Given the description of an element on the screen output the (x, y) to click on. 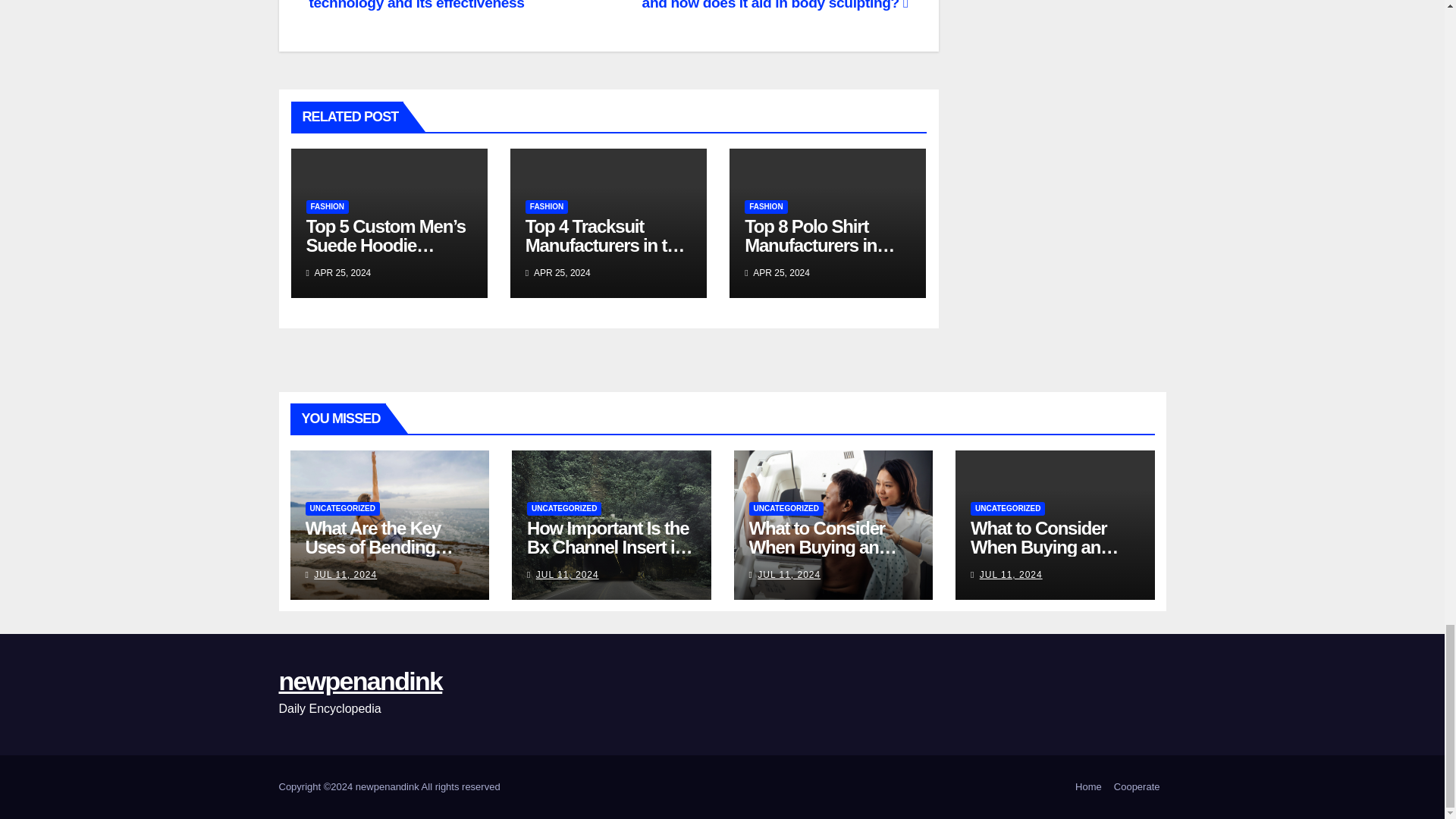
FASHION (327, 206)
Top 8 Polo Shirt Manufacturers in South Africa (819, 245)
FASHION (546, 206)
Top 4 Tracksuit Manufacturers in the United Kingdom (605, 245)
FASHION (765, 206)
Permalink to: Top 8 Polo Shirt Manufacturers in South Africa (819, 245)
